Given the description of an element on the screen output the (x, y) to click on. 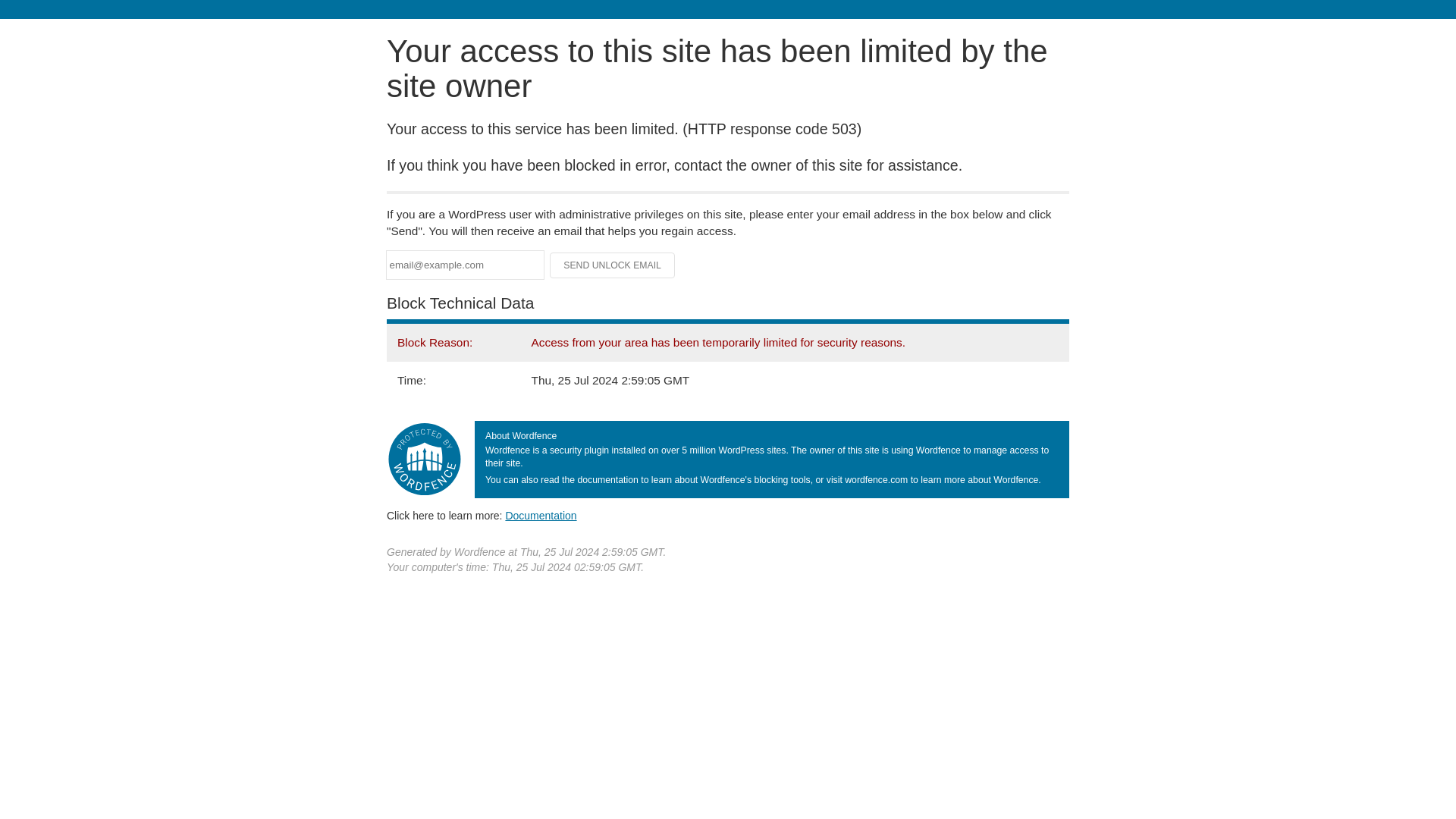
Documentation (540, 515)
Send Unlock Email (612, 265)
Send Unlock Email (612, 265)
